Given the description of an element on the screen output the (x, y) to click on. 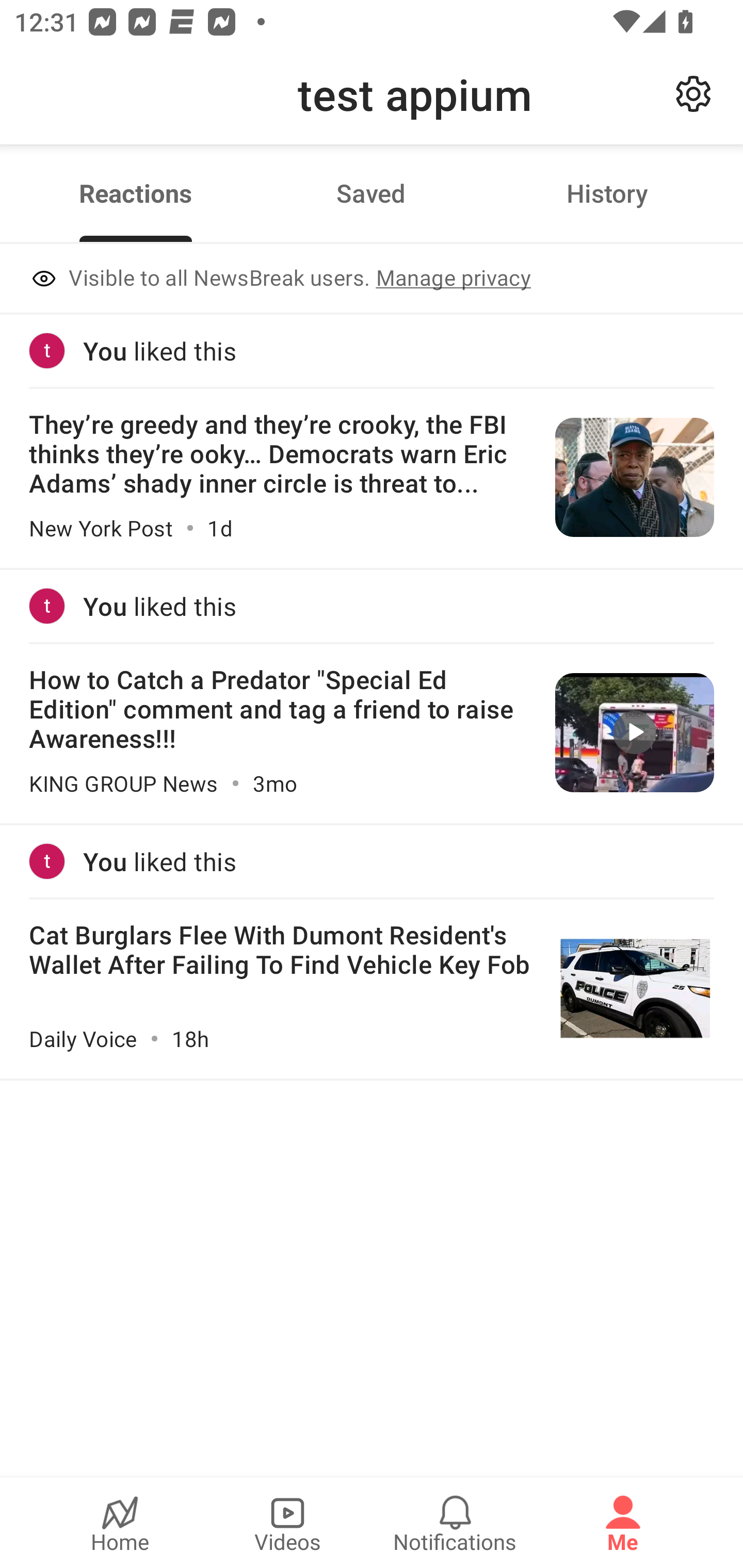
Saved (370, 192)
History (606, 192)
Visible to all NewsBreak users.  Manage privacy (371, 279)
Home (119, 1522)
Videos (287, 1522)
Notifications (455, 1522)
